Given the description of an element on the screen output the (x, y) to click on. 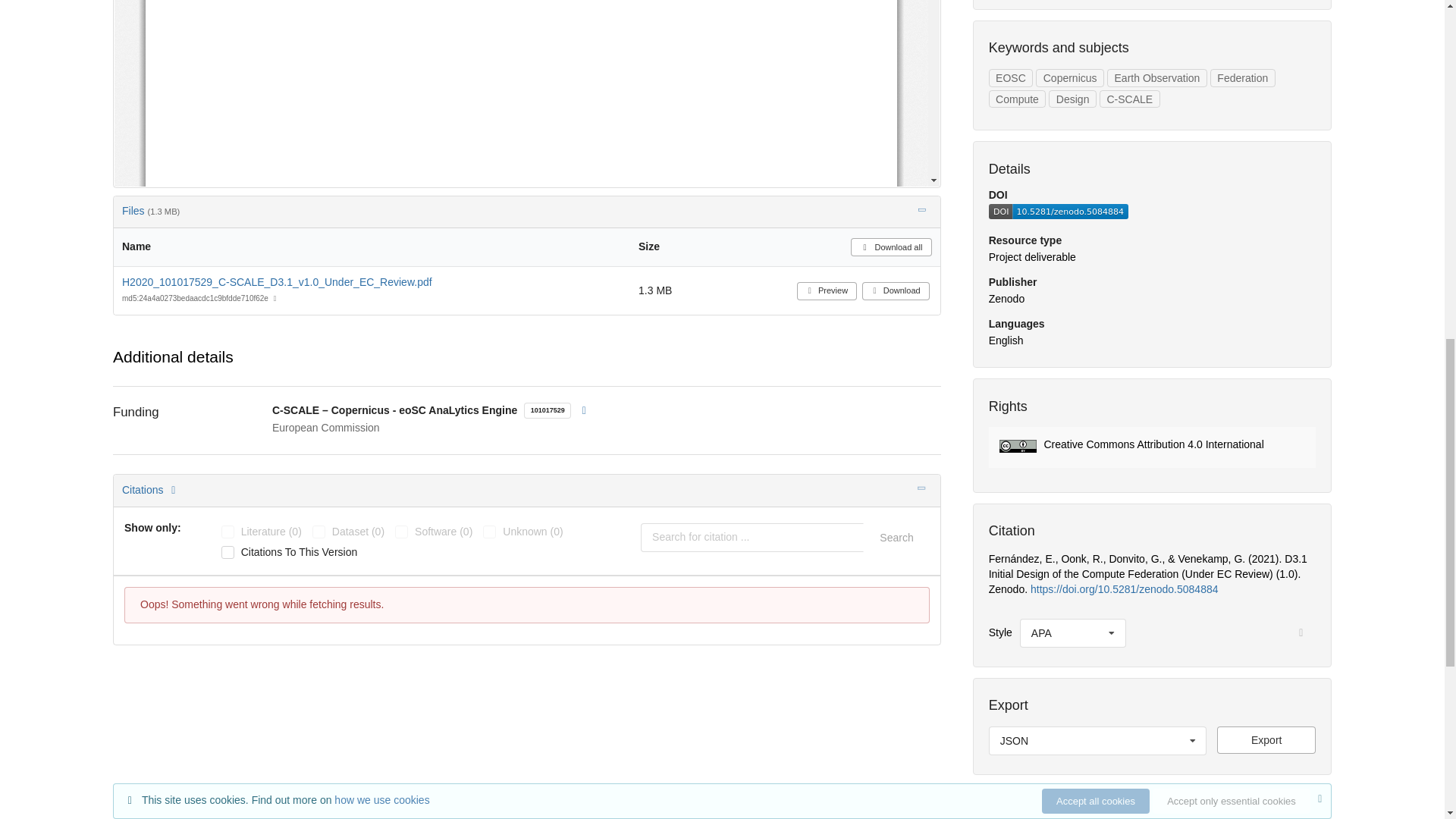
Earth Observation (1156, 77)
EOSC (1010, 77)
Federation (1242, 77)
Download file (1266, 739)
Copernicus (1069, 77)
Get the DOI badge! (1058, 215)
Download (895, 290)
Search results for C-SCALE (1128, 99)
Download all (890, 247)
Search results for Design (1072, 99)
Search results for Copernicus (1069, 77)
Search results for Federation (1242, 77)
Search results for Earth Observation (1156, 77)
Preview (826, 290)
